Given the description of an element on the screen output the (x, y) to click on. 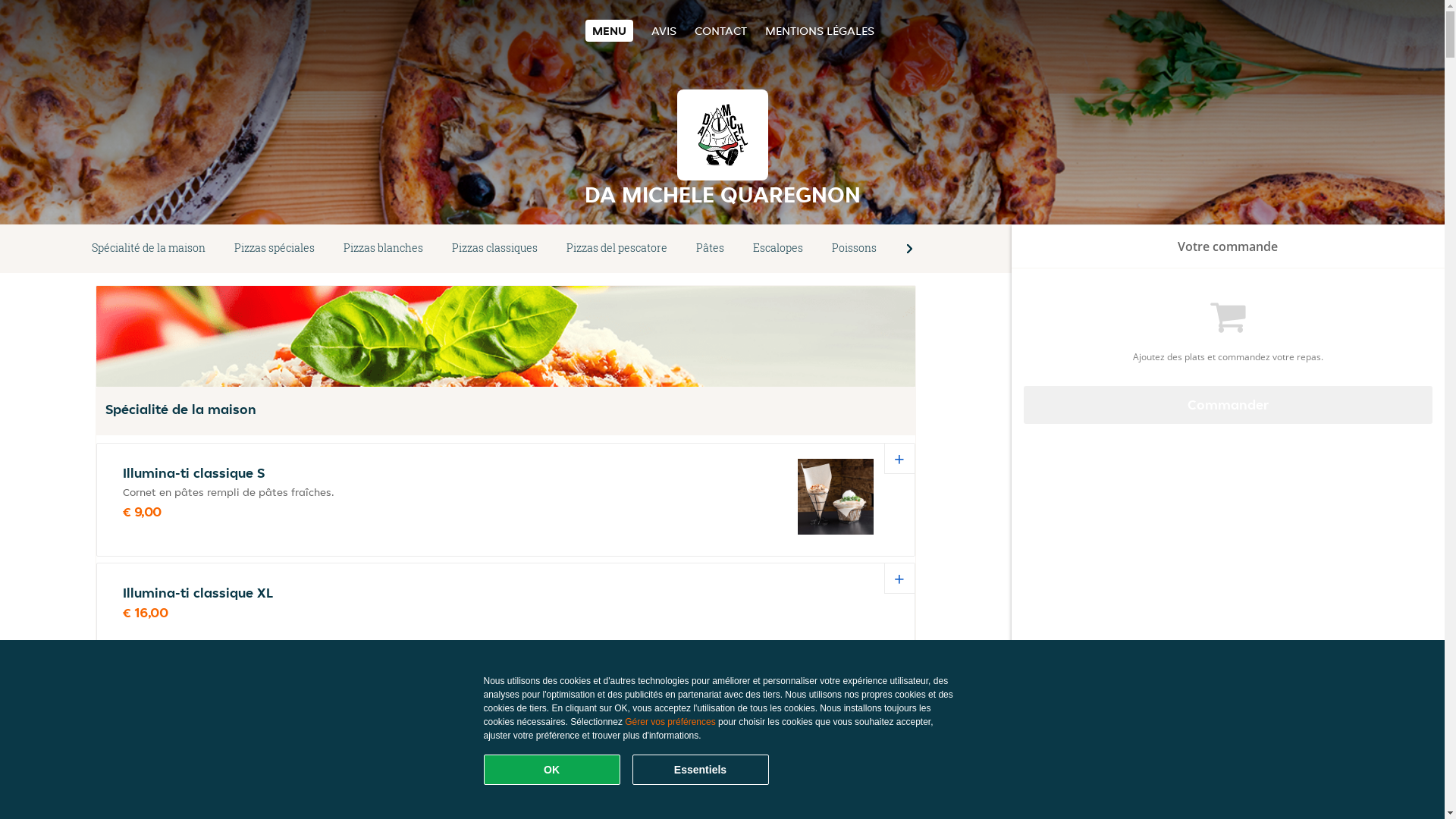
Poissons Element type: text (854, 248)
Commander Element type: text (1228, 404)
Escalopes Element type: text (777, 248)
Pizzas classiques Element type: text (494, 248)
AVIS Element type: text (663, 30)
MENU Element type: text (609, 30)
Essentiels Element type: text (700, 769)
CONTACT Element type: text (720, 30)
Pizzas blanches Element type: text (383, 248)
Pizzas del pescatore Element type: text (616, 248)
OK Element type: text (551, 769)
